Given the description of an element on the screen output the (x, y) to click on. 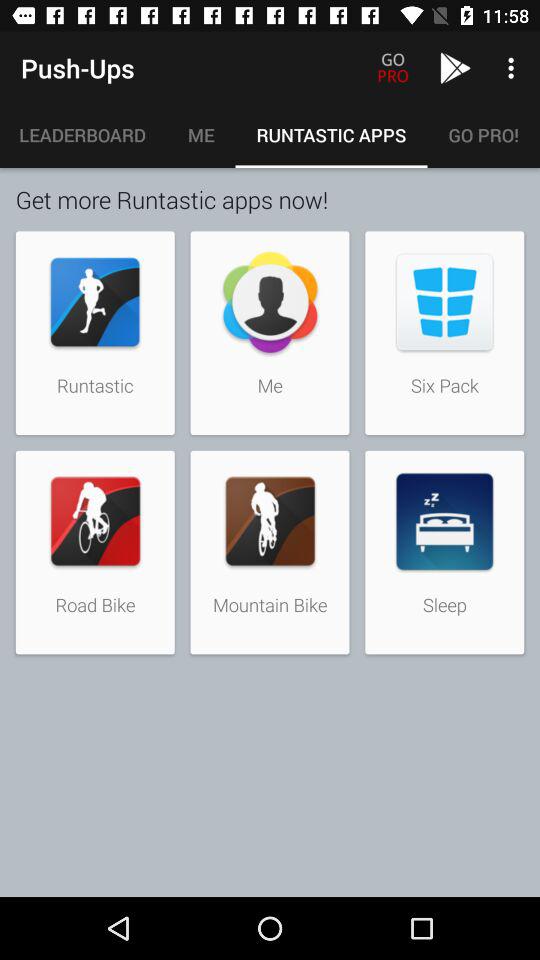
open item to the left of me (83, 135)
